Given the description of an element on the screen output the (x, y) to click on. 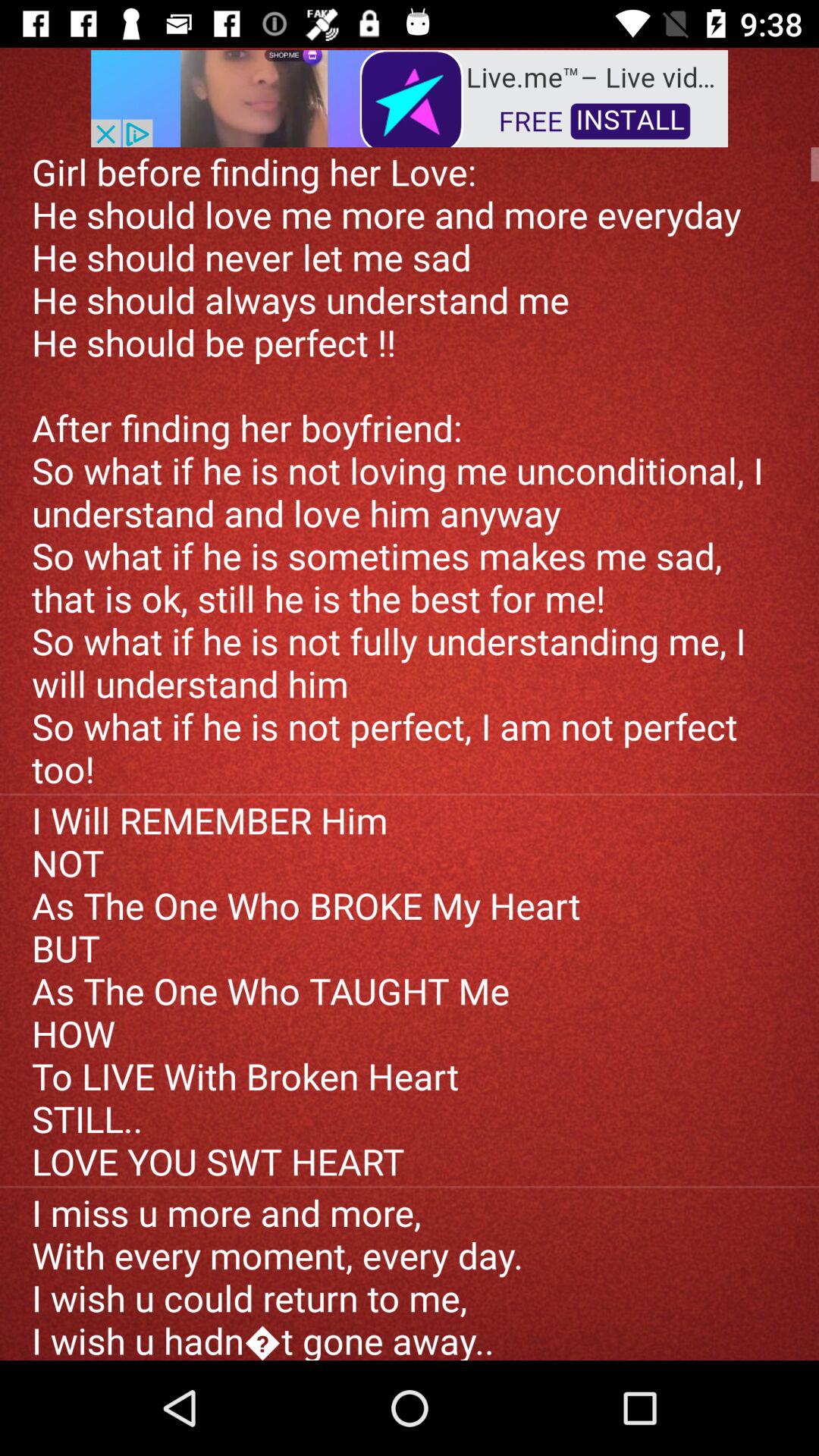
go to the advertisement (409, 97)
